Given the description of an element on the screen output the (x, y) to click on. 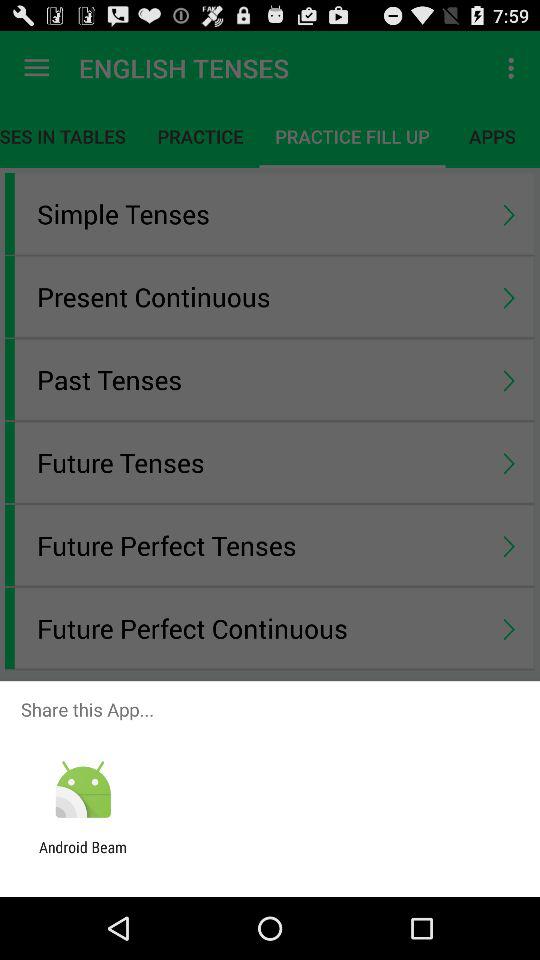
flip to android beam icon (83, 856)
